Given the description of an element on the screen output the (x, y) to click on. 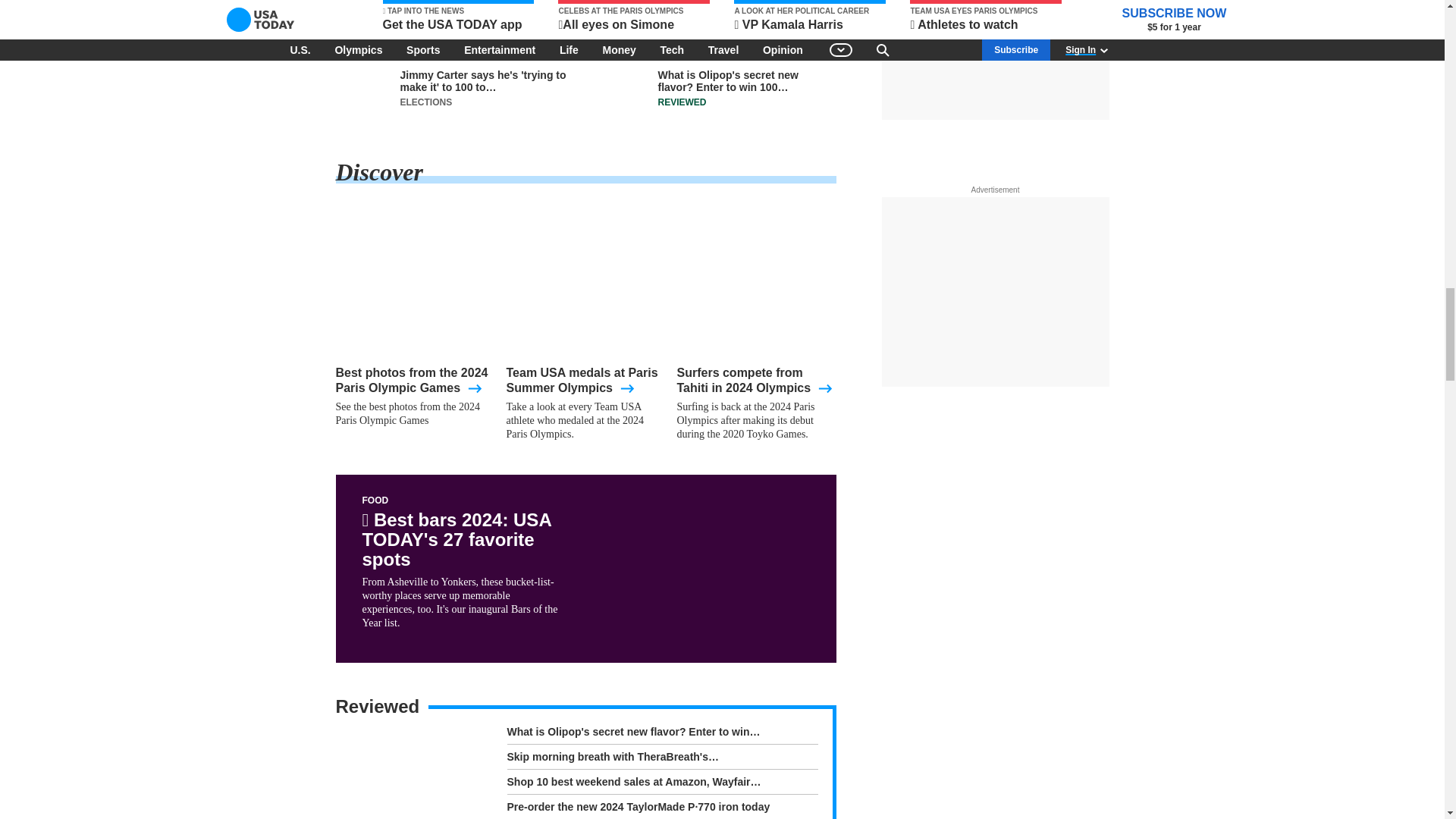
Shop 10 best weekend sales at Amazon, Wayfair, Nordstrom (661, 784)
